Given the description of an element on the screen output the (x, y) to click on. 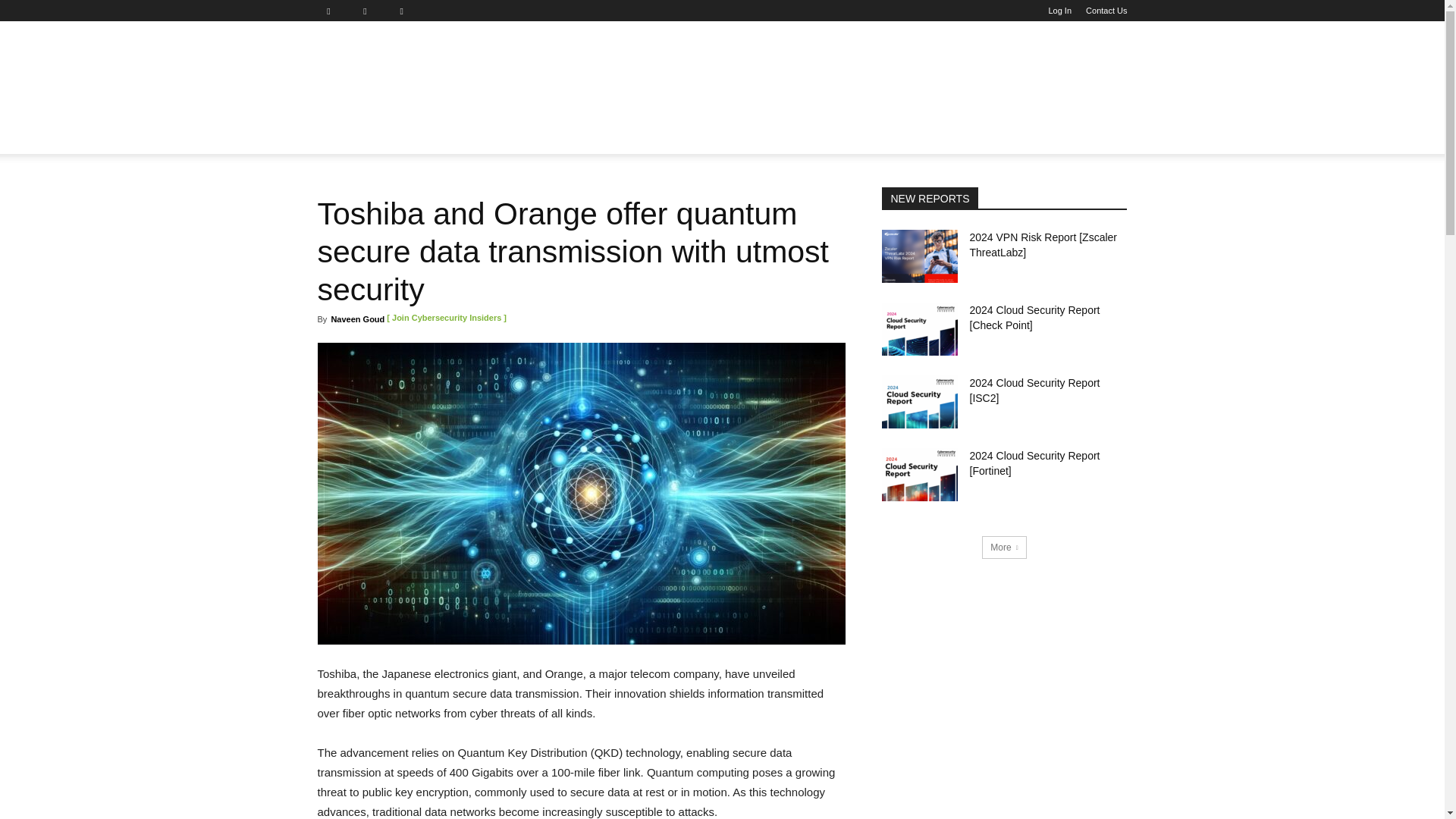
Facebook (333, 10)
Contact Us (1106, 10)
Log In (1059, 10)
NEWS (343, 135)
Linkedin (370, 10)
